Given the description of an element on the screen output the (x, y) to click on. 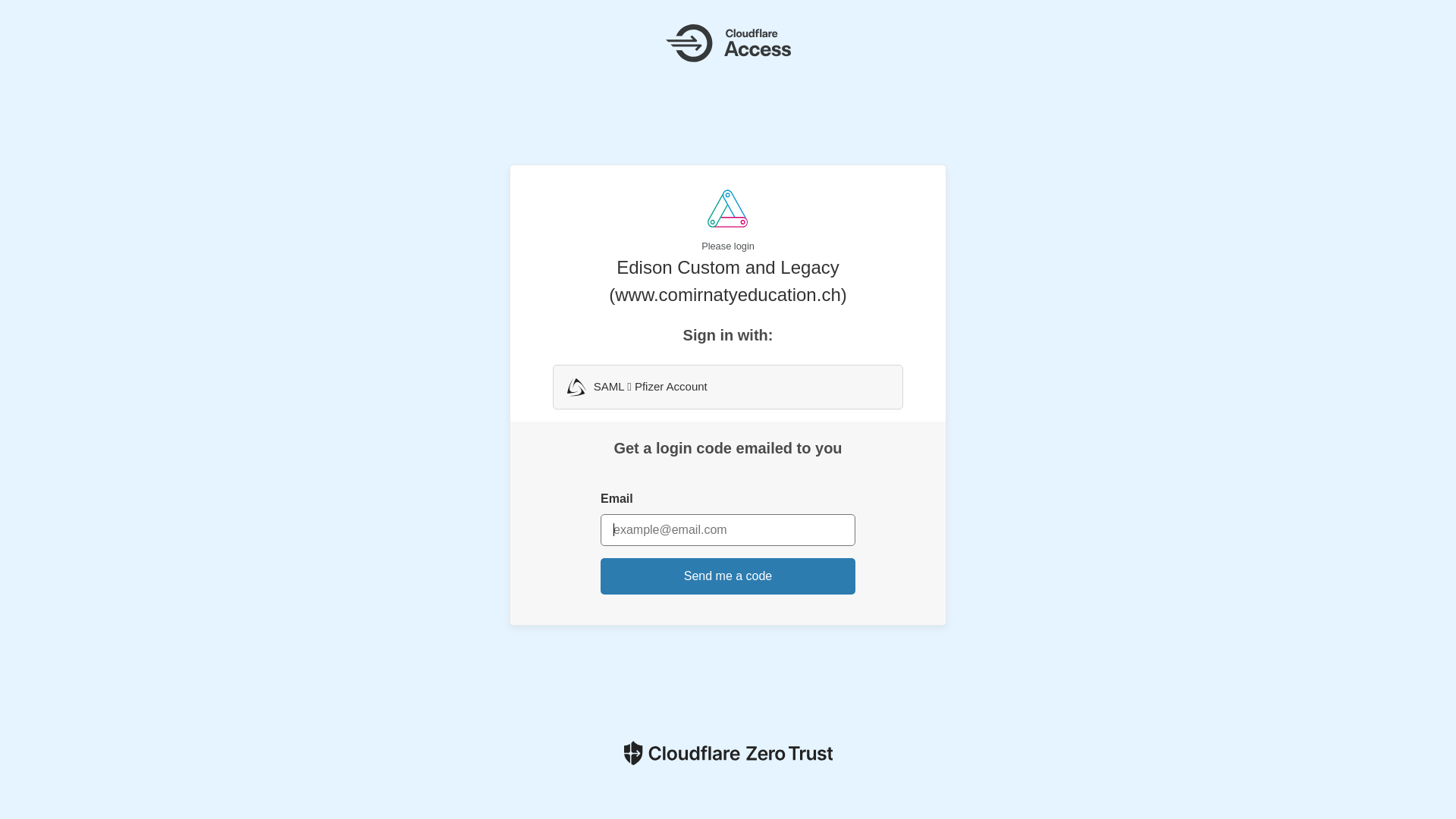
Send me a code Element type: text (727, 576)
Please login Element type: text (727, 221)
